Given the description of an element on the screen output the (x, y) to click on. 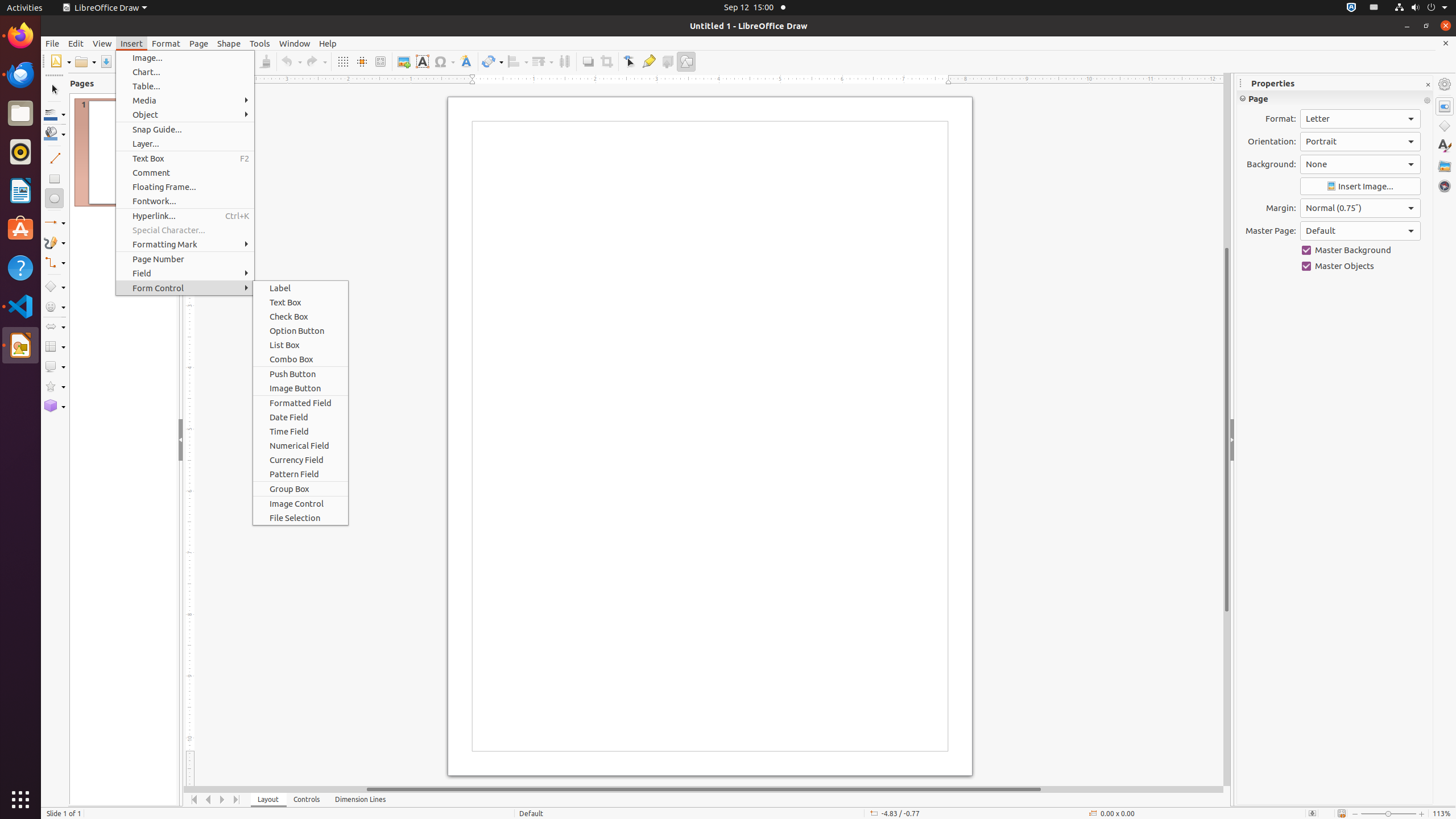
Tools Element type: menu (259, 43)
Dimension Lines Element type: page-tab (360, 799)
File Selection Element type: check-menu-item (300, 517)
Snap Guide... Element type: menu-item (185, 129)
Redo Element type: push-button (315, 61)
